Given the description of an element on the screen output the (x, y) to click on. 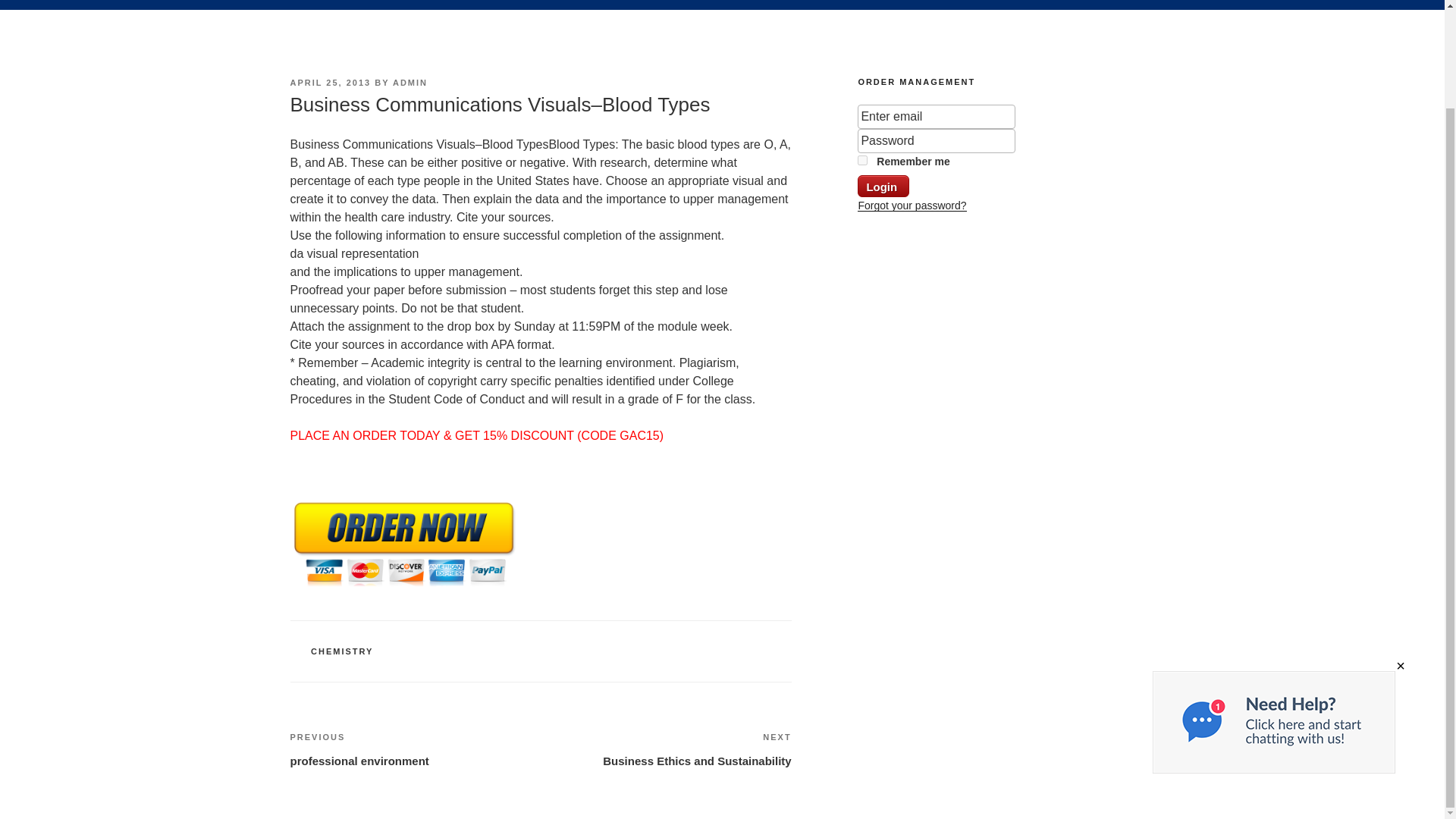
Our Process (238, 4)
CHEMISTRY (341, 651)
Home (32, 4)
click to Login (882, 186)
Contact Us (867, 4)
Testimonials (708, 4)
Our Prices (666, 749)
Login (440, 4)
Forgot your password? (949, 4)
